Given the description of an element on the screen output the (x, y) to click on. 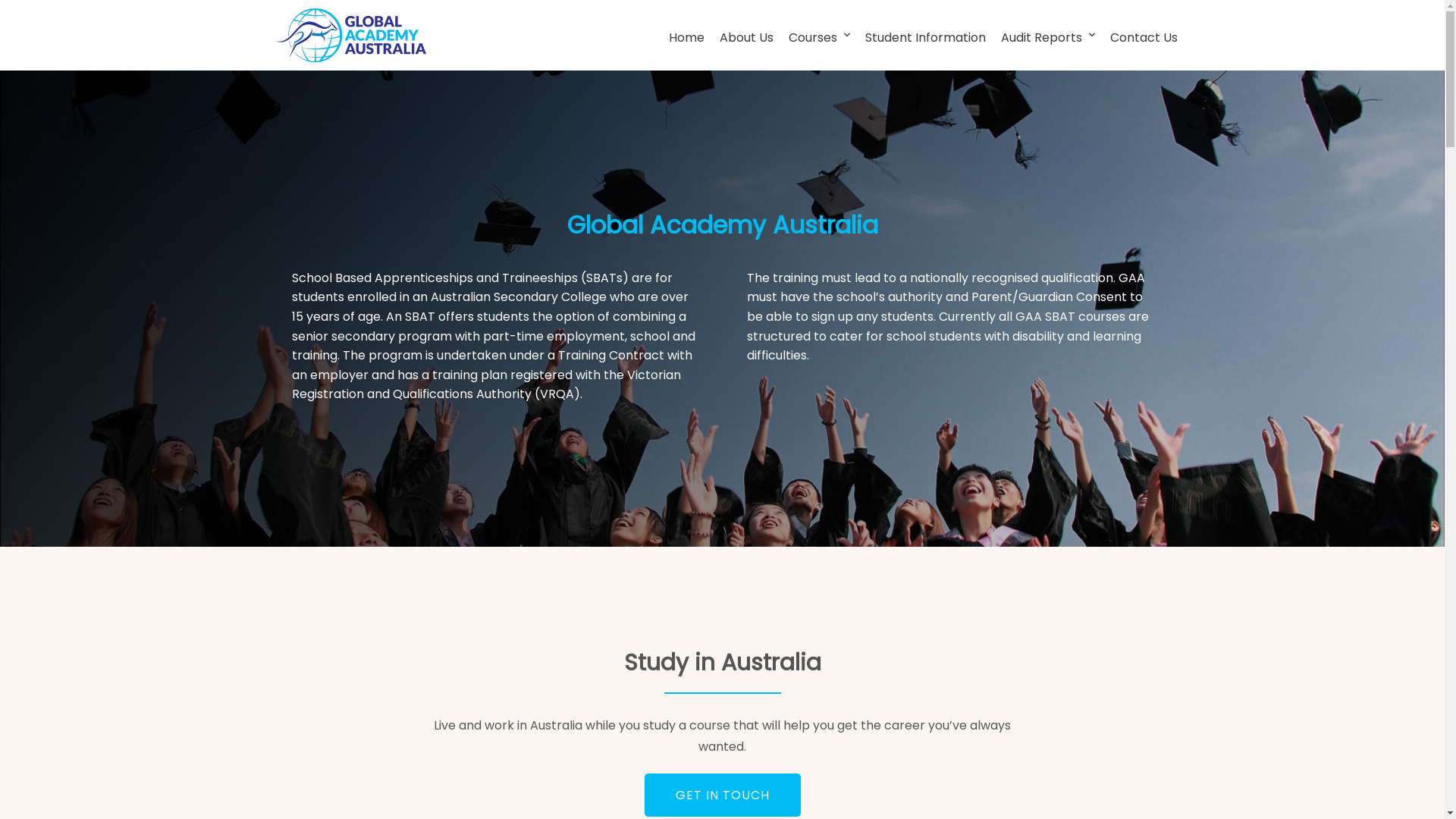
Student Information Element type: text (924, 37)
Audit Reports Element type: text (1043, 37)
Courses Element type: text (814, 37)
GET IN TOUCH Element type: text (722, 794)
Home Element type: text (686, 37)
About Us Element type: text (745, 37)
Contact Us Element type: text (1143, 37)
